Given the description of an element on the screen output the (x, y) to click on. 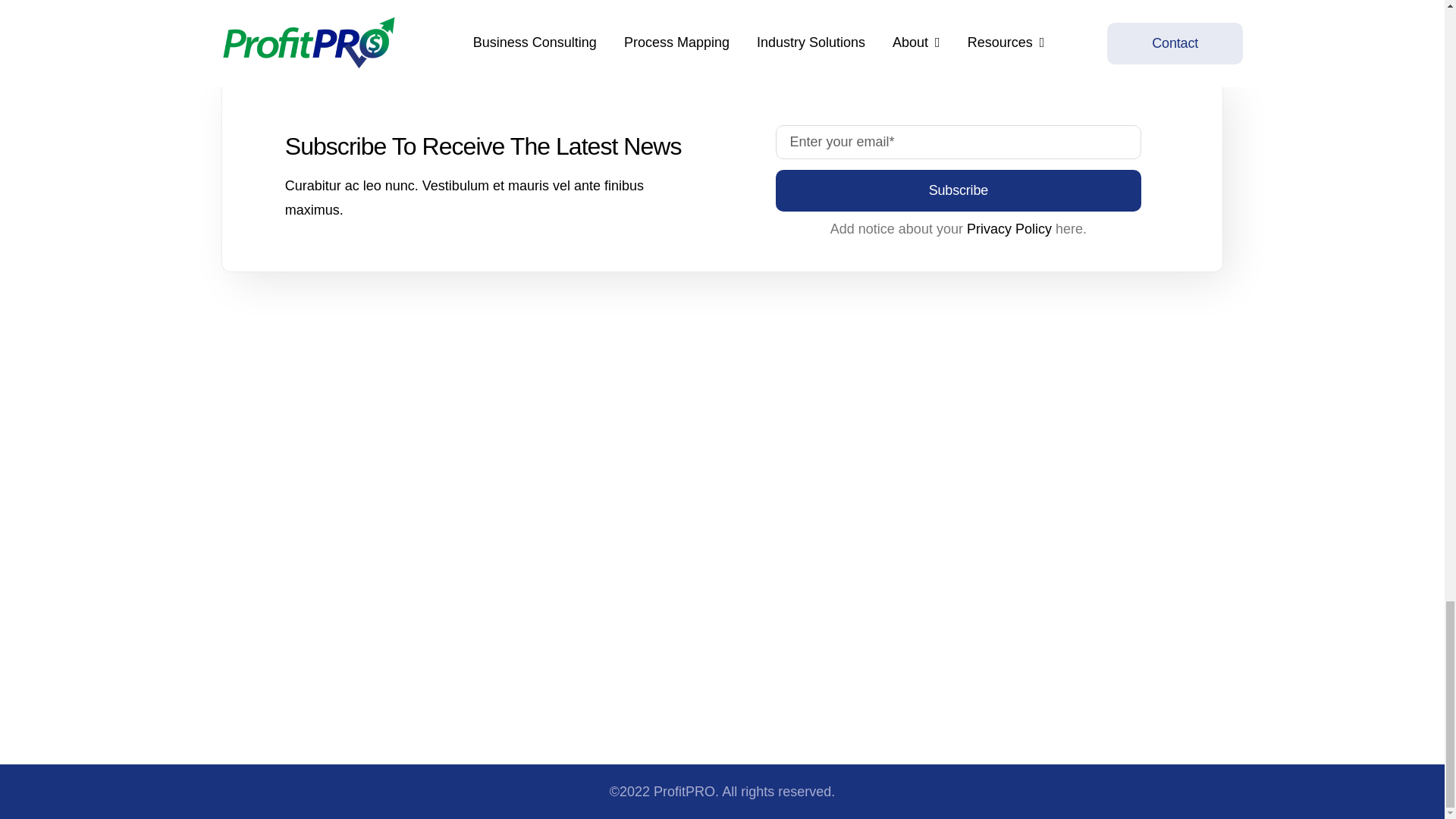
Privacy Policy (1008, 228)
Subscribe (957, 190)
Subscribe (958, 167)
